Given the description of an element on the screen output the (x, y) to click on. 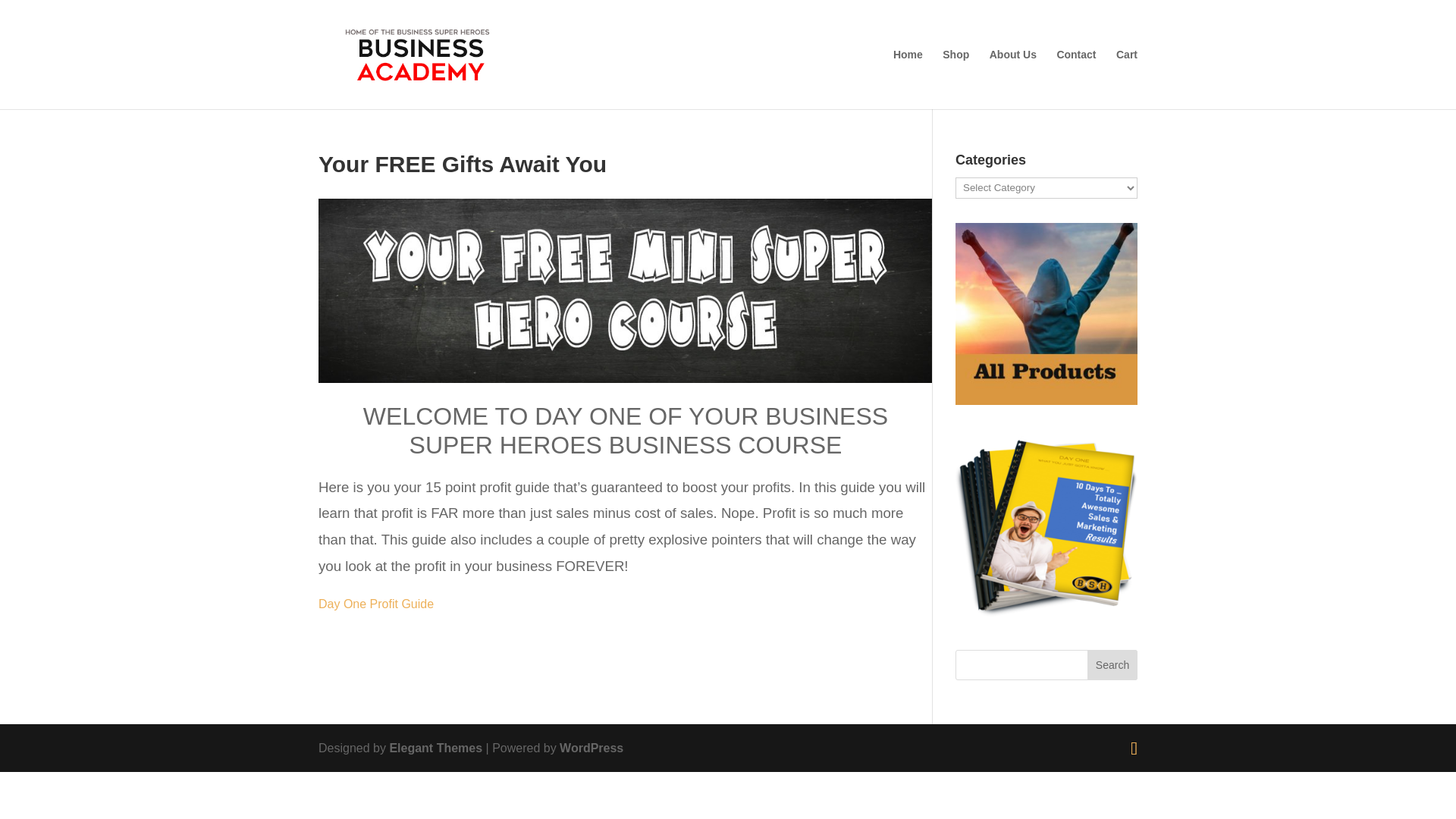
Elegant Themes (434, 748)
Search (1112, 665)
Day One Profit Guide (375, 603)
WordPress (591, 748)
Premium WordPress Themes (434, 748)
Search (1112, 665)
